Given the description of an element on the screen output the (x, y) to click on. 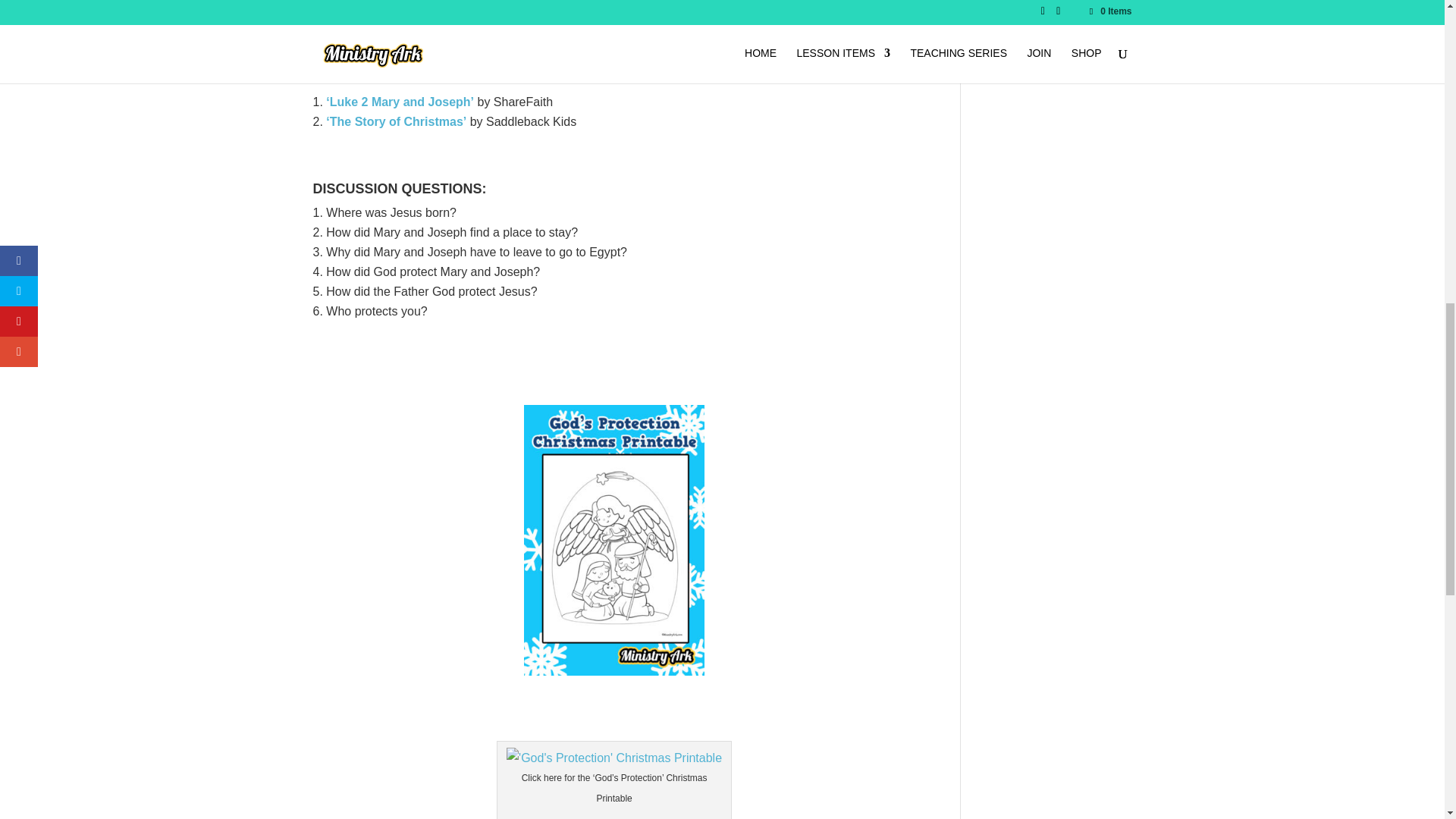
'God's Protection' Christmas Printable (614, 757)
